Given the description of an element on the screen output the (x, y) to click on. 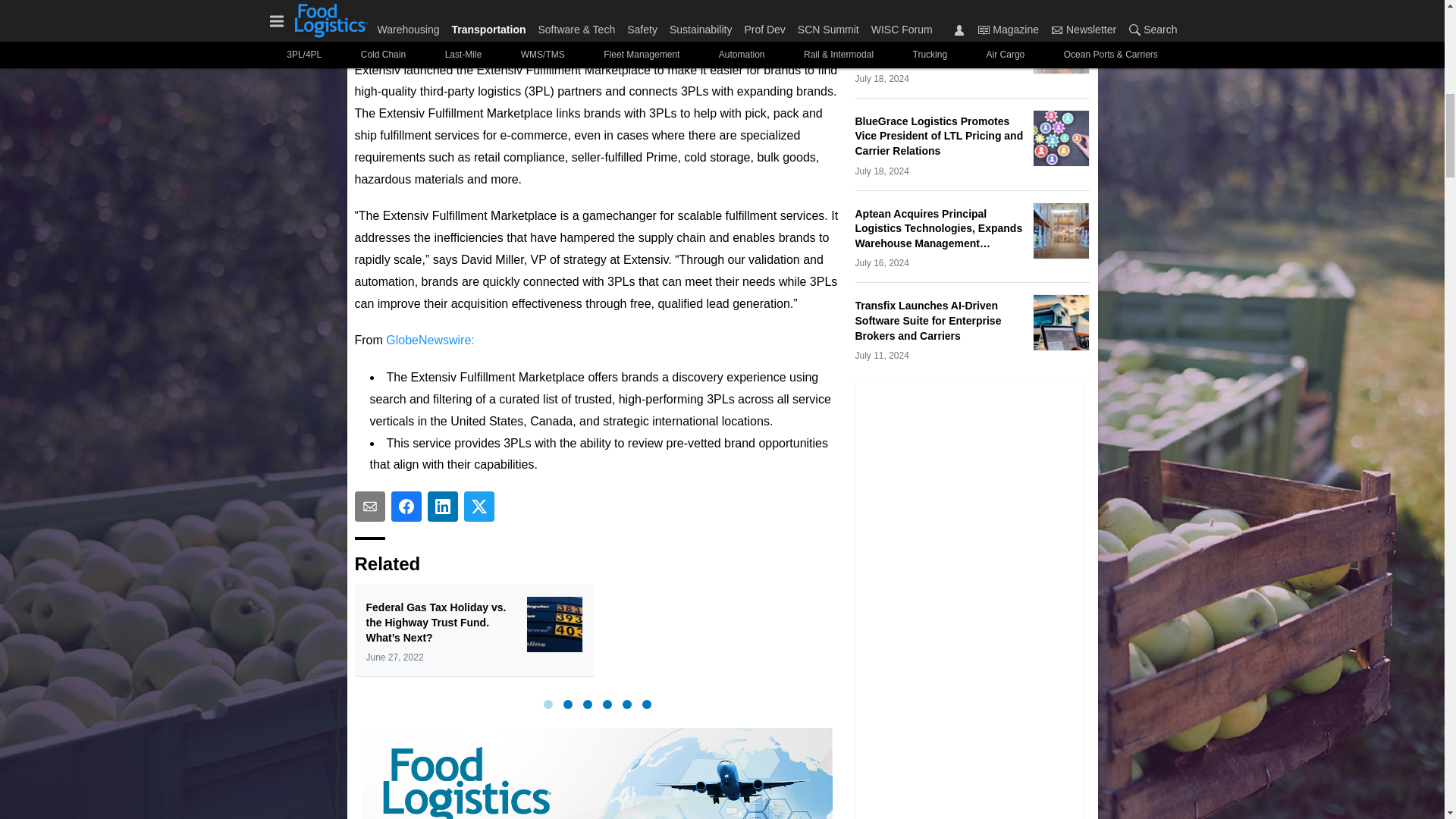
Share To facebook (406, 506)
Share To linkedin (443, 506)
Share To twitter (479, 506)
Share To email (370, 506)
